Given the description of an element on the screen output the (x, y) to click on. 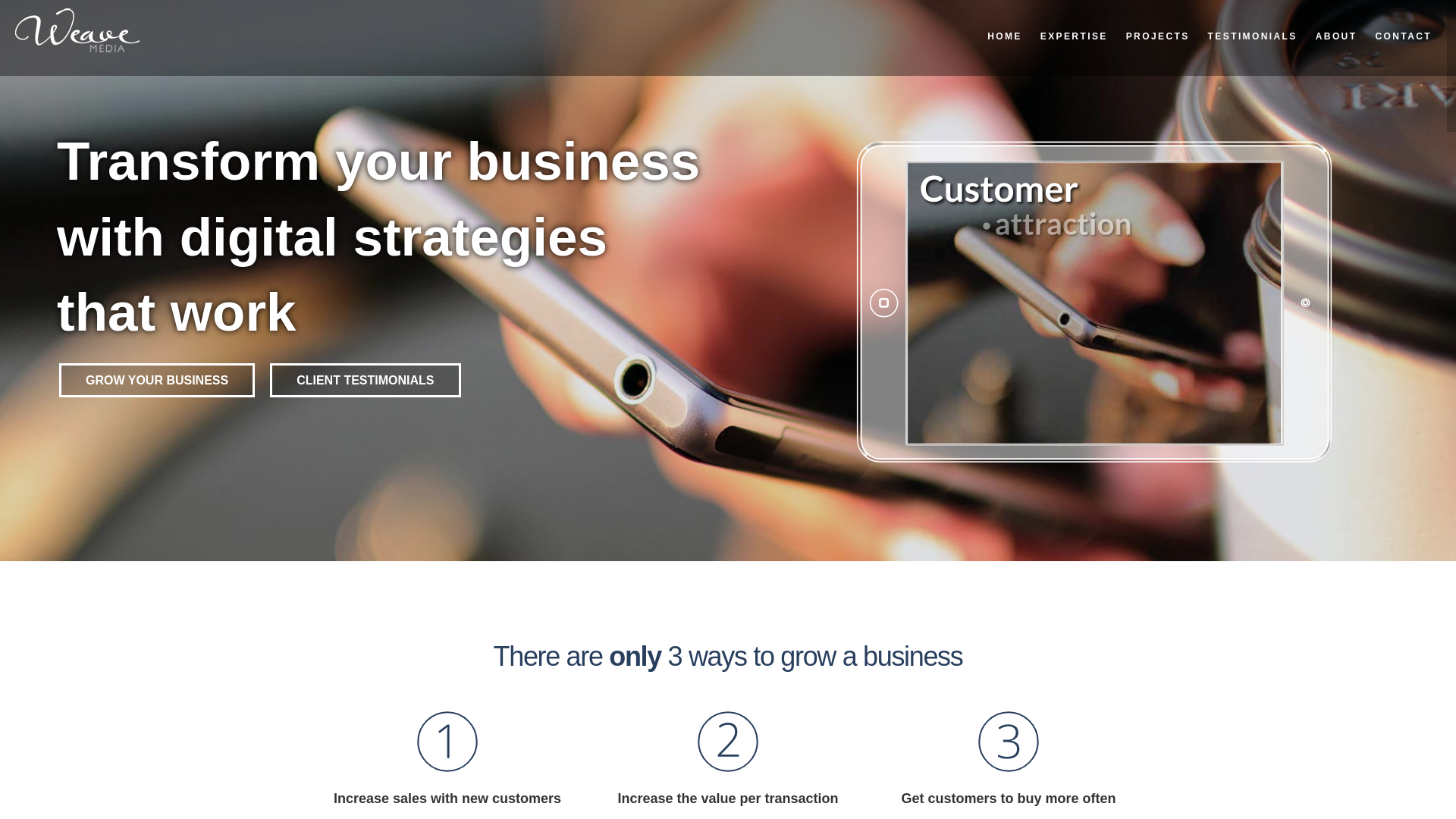
GROW YOUR BUSINESS Element type: text (156, 379)
PROJECTS Element type: text (1157, 36)
TESTIMONIALS Element type: text (1252, 36)
HOME Element type: text (1004, 36)
CONTACT Element type: text (1402, 36)
EXPERTISE Element type: text (1074, 36)
CLIENT TESTIMONIALS Element type: text (364, 379)
ABOUT Element type: text (1336, 36)
